Given the description of an element on the screen output the (x, y) to click on. 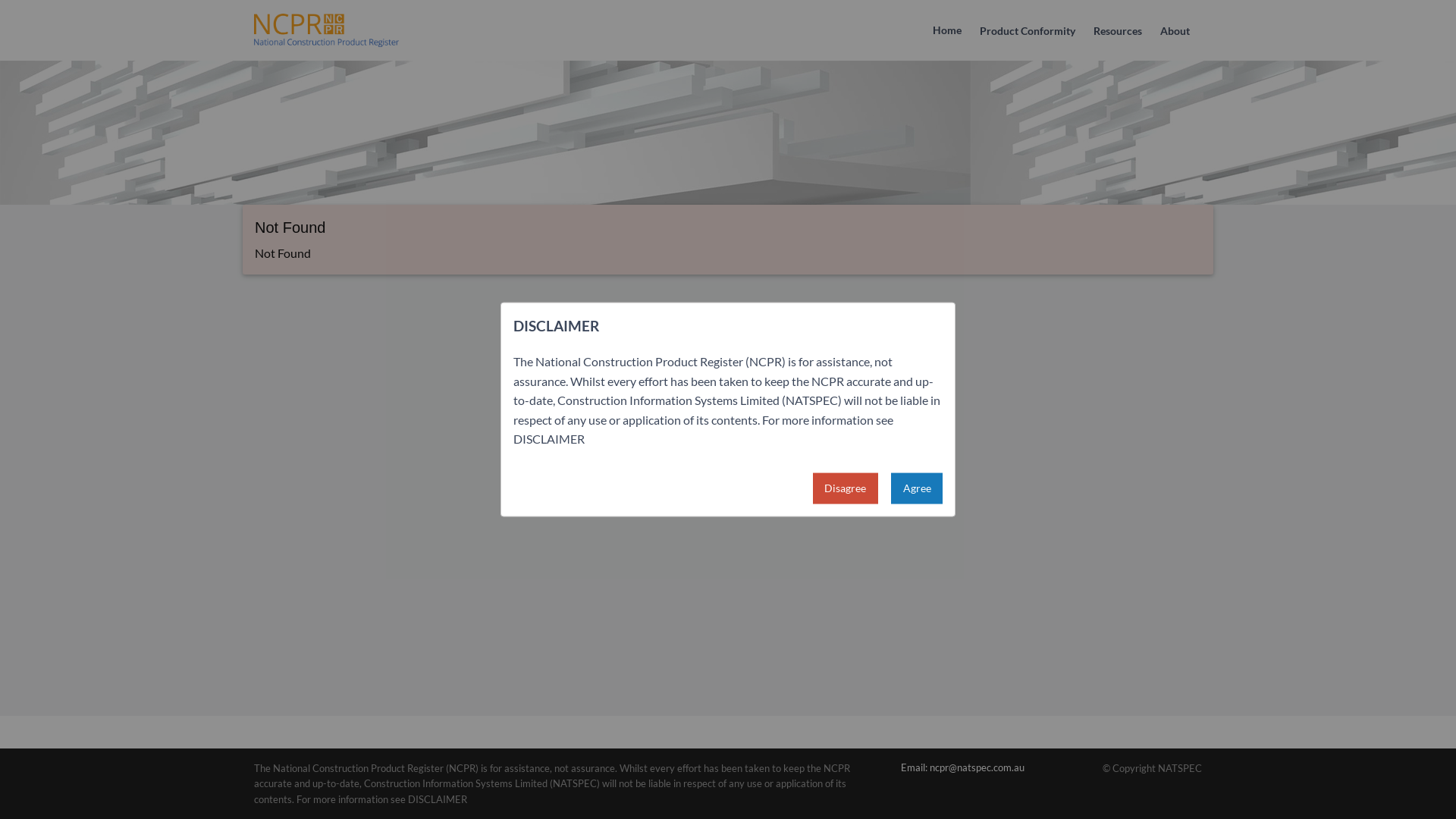
Disagree Element type: text (845, 488)
Resources Element type: text (1117, 31)
About Element type: text (1174, 31)
Home Element type: text (946, 30)
Agree Element type: text (916, 488)
Email: ncpr@natspec.com.au Element type: text (962, 767)
Product Conformity Element type: text (1027, 31)
